Given the description of an element on the screen output the (x, y) to click on. 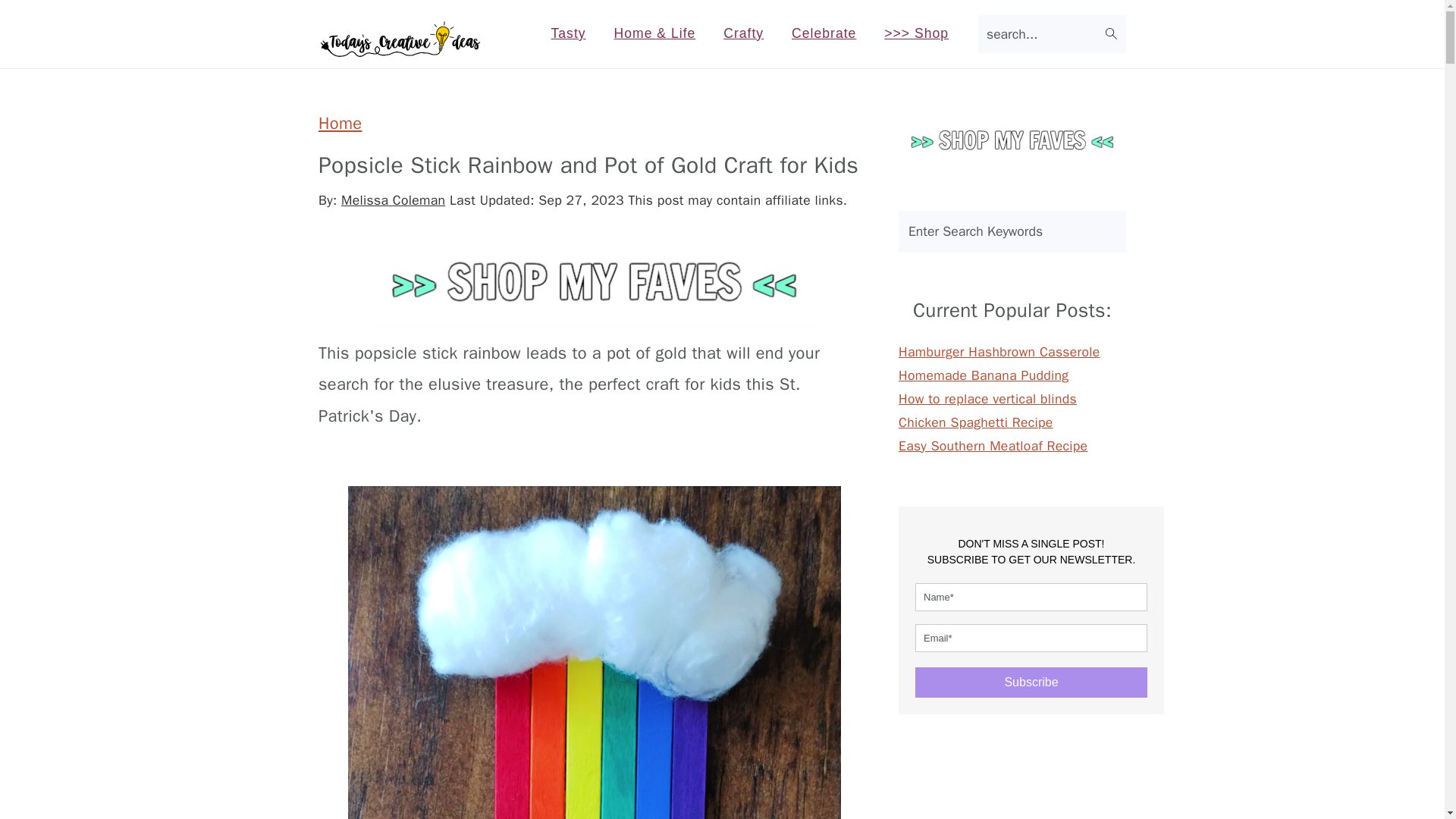
Today's Creative Ideas (399, 40)
Celebrate (823, 33)
Tasty (568, 33)
Today's Creative Ideas (399, 50)
Crafty (742, 33)
